Given the description of an element on the screen output the (x, y) to click on. 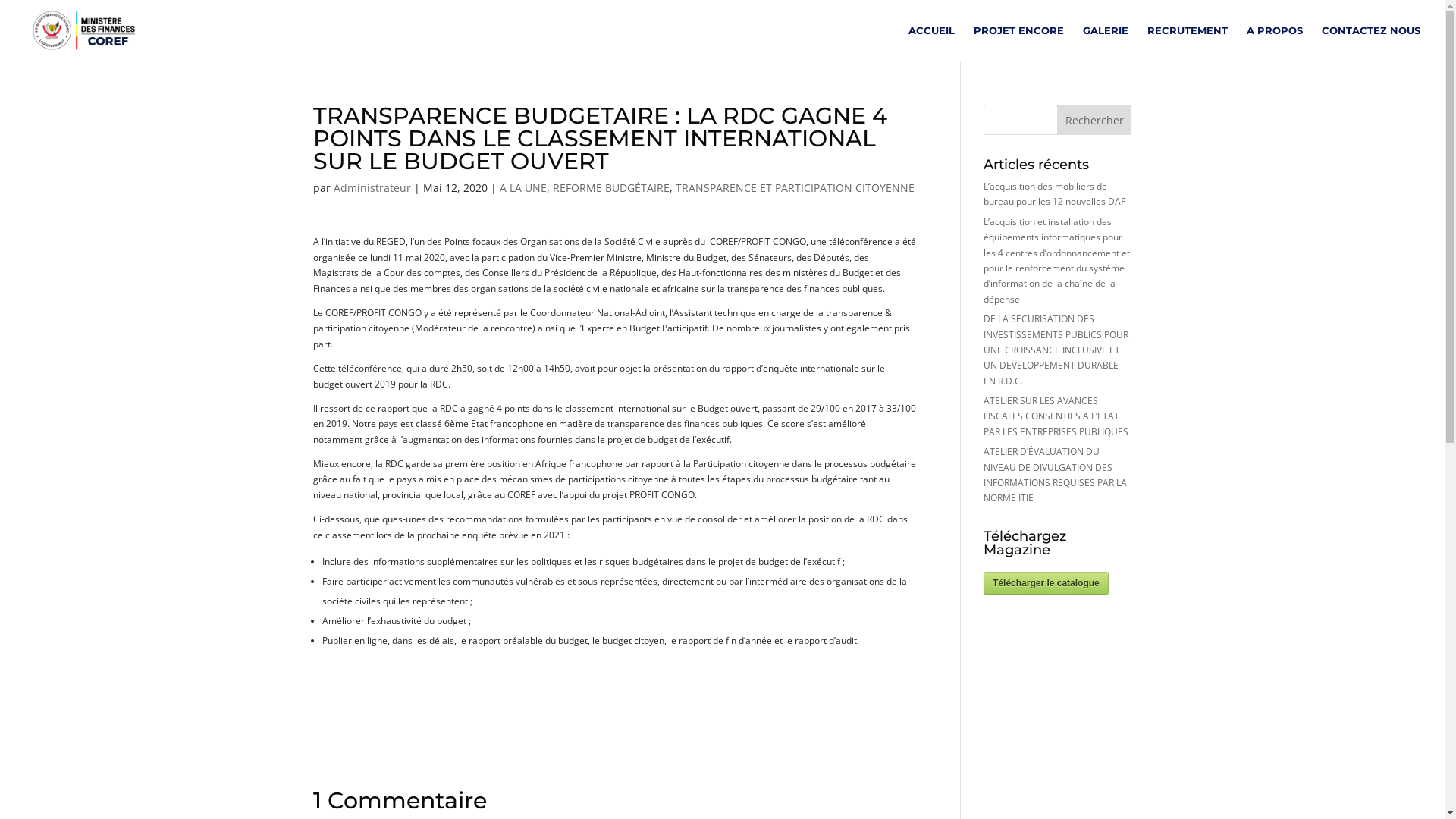
GALERIE Element type: text (1105, 42)
Administrateur Element type: text (372, 187)
A LA UNE Element type: text (522, 187)
A PROPOS Element type: text (1274, 42)
ACCUEIL Element type: text (931, 42)
Rechercher Element type: text (1094, 119)
PROJET ENCORE Element type: text (1018, 42)
CONTACTEZ NOUS Element type: text (1370, 42)
TRANSPARENCE ET PARTICIPATION CITOYENNE Element type: text (793, 187)
RECRUTEMENT Element type: text (1187, 42)
